Given the description of an element on the screen output the (x, y) to click on. 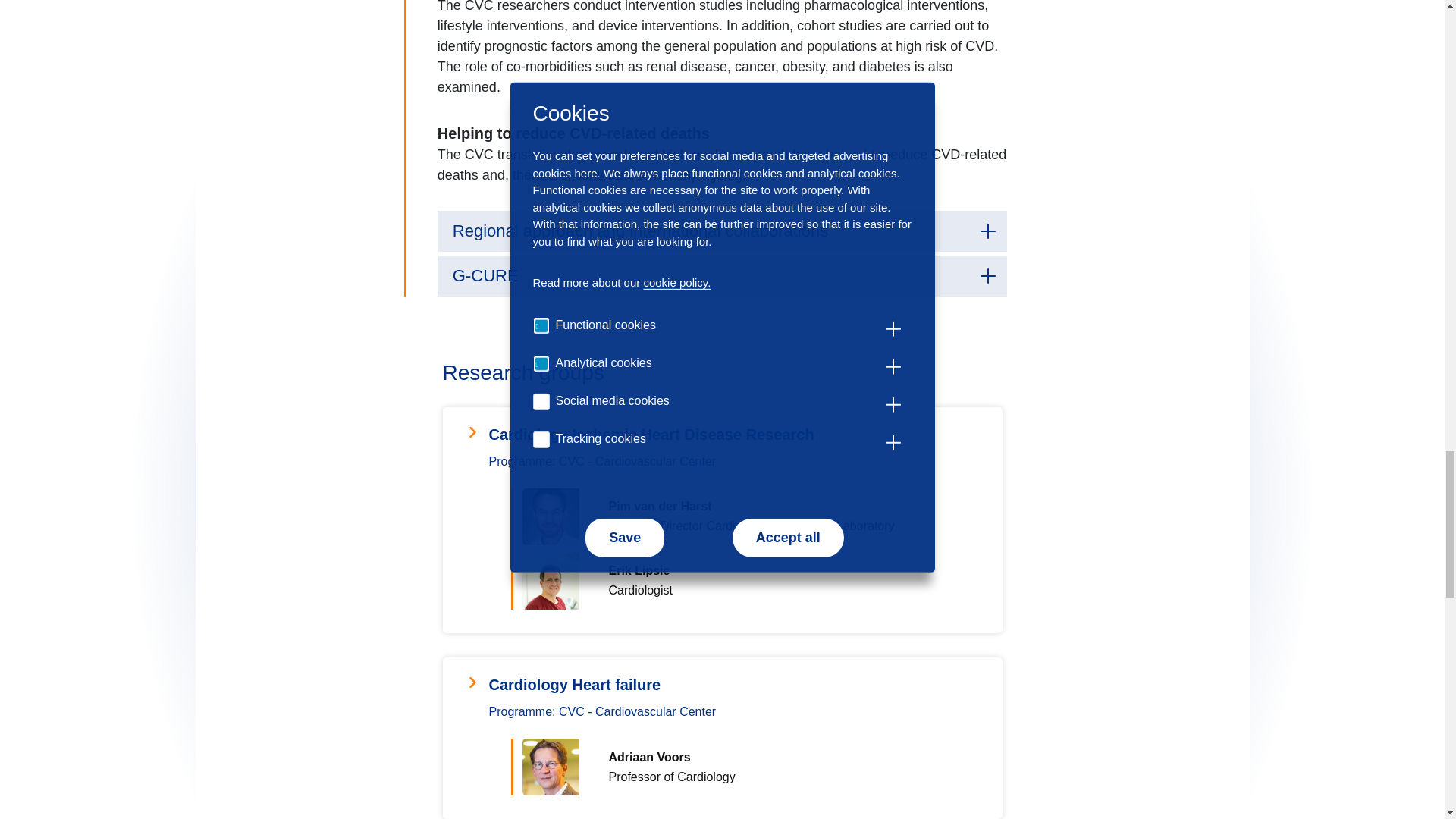
G-CURE (722, 275)
Regional approach and international collaborations (722, 230)
